Given the description of an element on the screen output the (x, y) to click on. 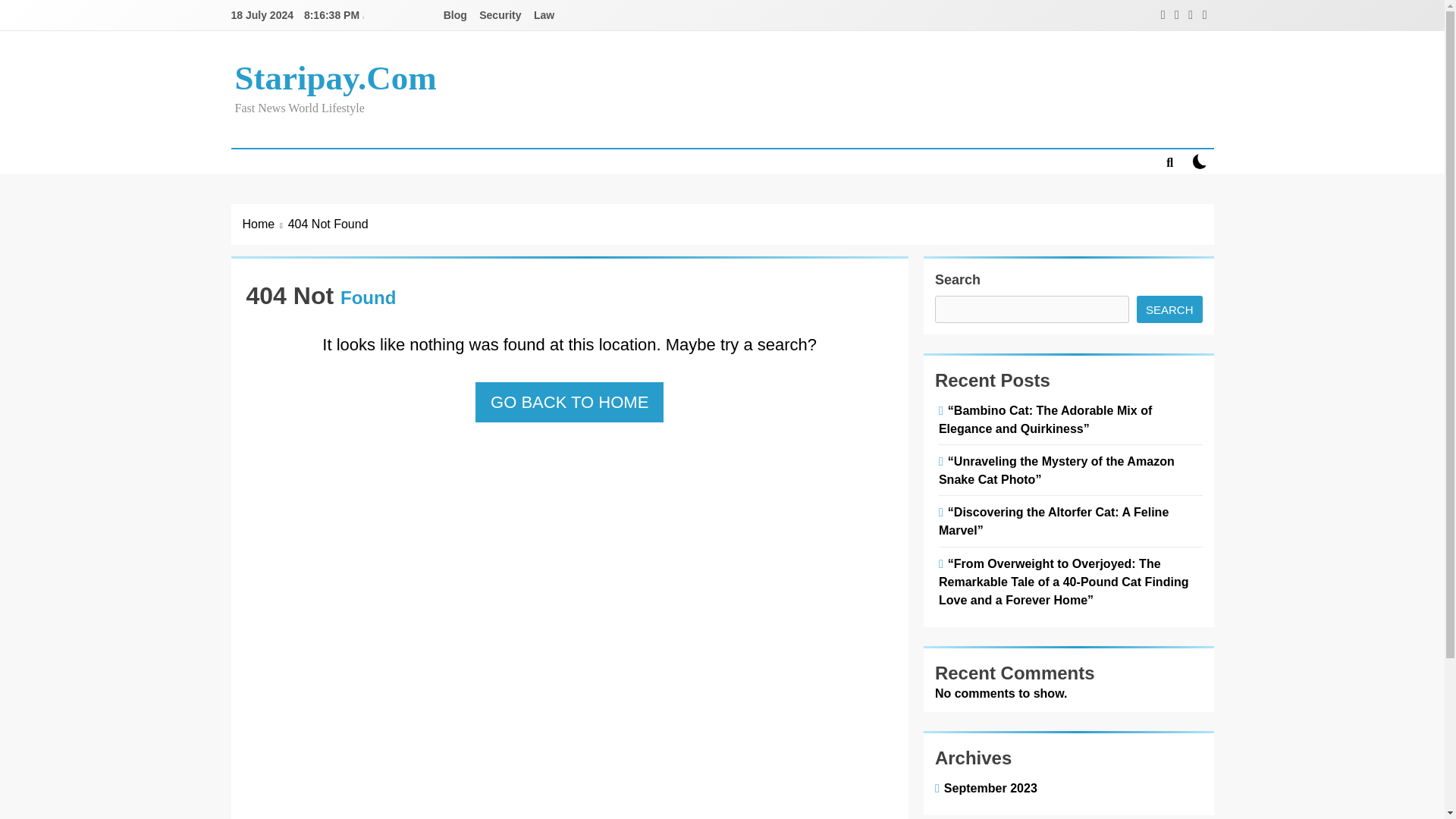
September 2023 (987, 787)
Security (499, 15)
Law (544, 15)
Home (265, 224)
Blog (455, 15)
Staripay.Com (335, 77)
SEARCH (1169, 308)
on (1199, 160)
GO BACK TO HOME (569, 402)
